Given the description of an element on the screen output the (x, y) to click on. 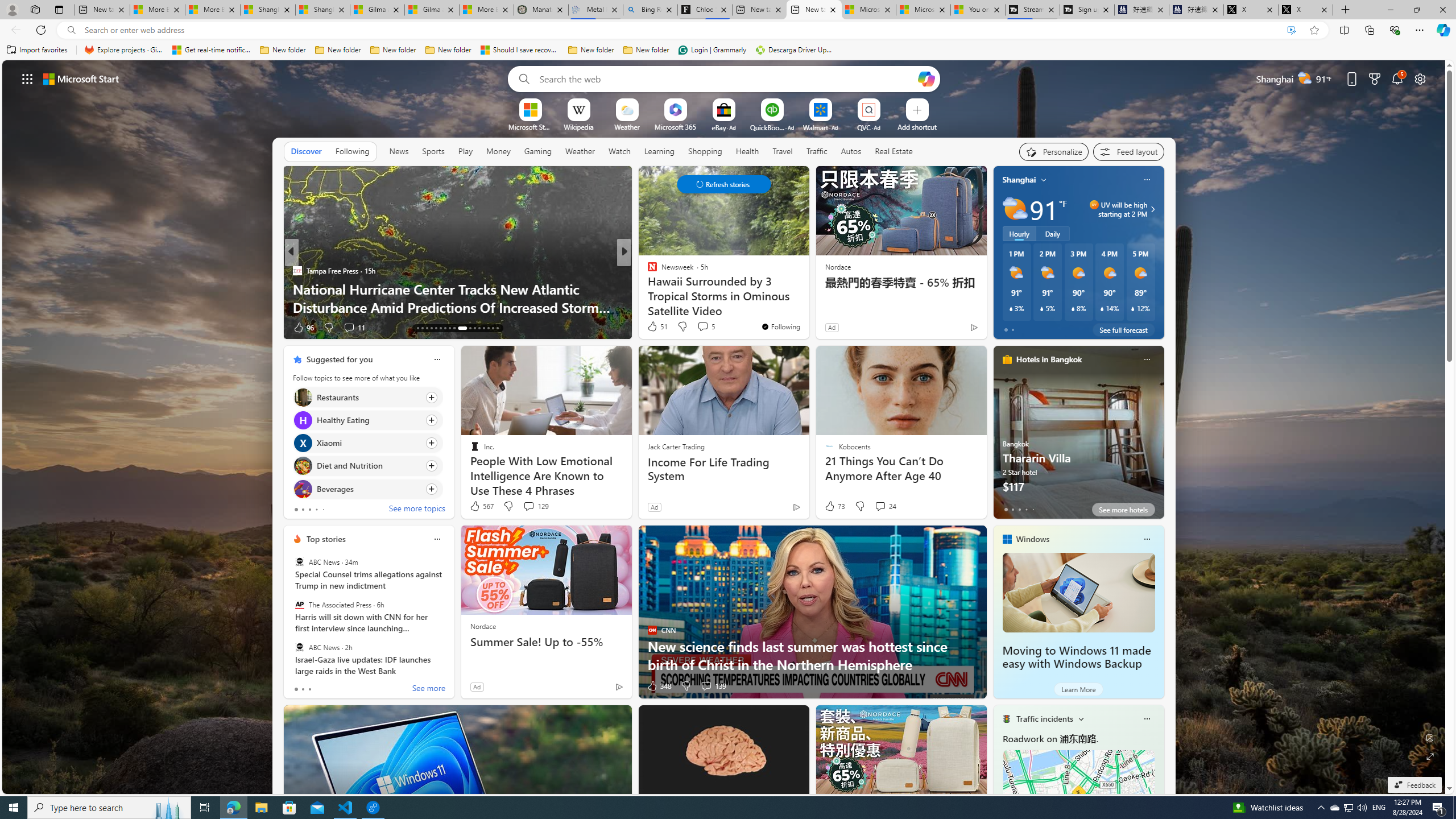
hotels-header-icon (1006, 358)
AutomationID: tab-27 (470, 328)
Windows (1032, 538)
Shopping (705, 151)
View comments 7 Comment (702, 327)
Search icon (70, 29)
AutomationID: tab-22 (440, 328)
Class: control (723, 184)
Wikipedia (578, 126)
